Given the description of an element on the screen output the (x, y) to click on. 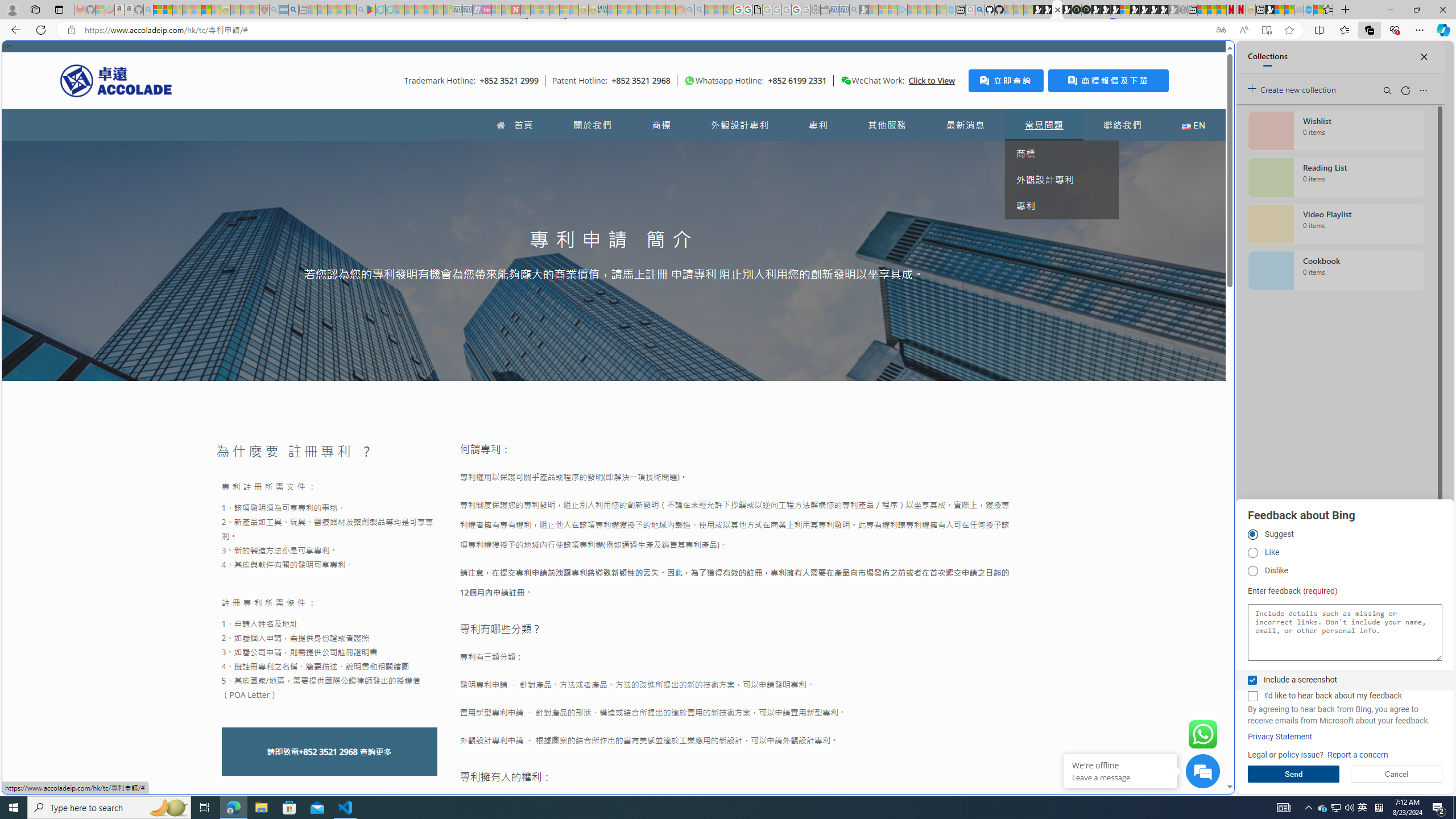
google - Search - Sleeping (360, 9)
Recipes - MSN - Sleeping (234, 9)
EN (1193, 124)
Accolade IP HK Logo (116, 80)
